Given the description of an element on the screen output the (x, y) to click on. 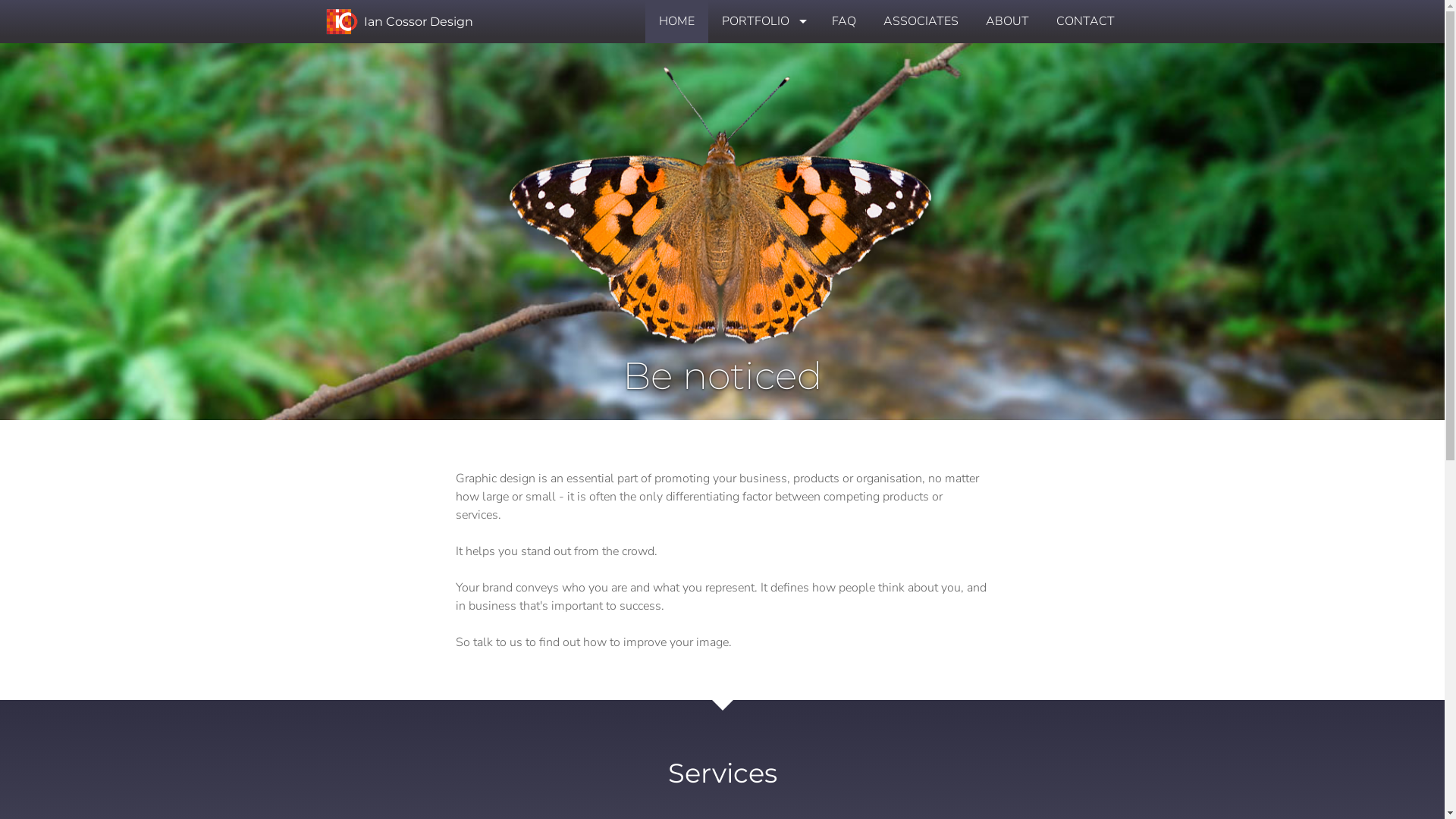
FAQ Element type: text (843, 21)
ILLUSTRATION Element type: text (763, 157)
HOME Element type: text (675, 21)
ABOUT Element type: text (1007, 21)
Australian Painted Lady (Vanessa kerhawi) Element type: hover (721, 205)
ASSOCIATES Element type: text (920, 21)
PORTFOLIO Element type: text (763, 21)
WEBSITES Element type: text (763, 91)
Ian Cossor Design Element type: text (394, 21)
CONTACT Element type: text (1084, 21)
LOGOS Element type: text (763, 59)
PHOTOGRAPHY Element type: text (763, 124)
